Given the description of an element on the screen output the (x, y) to click on. 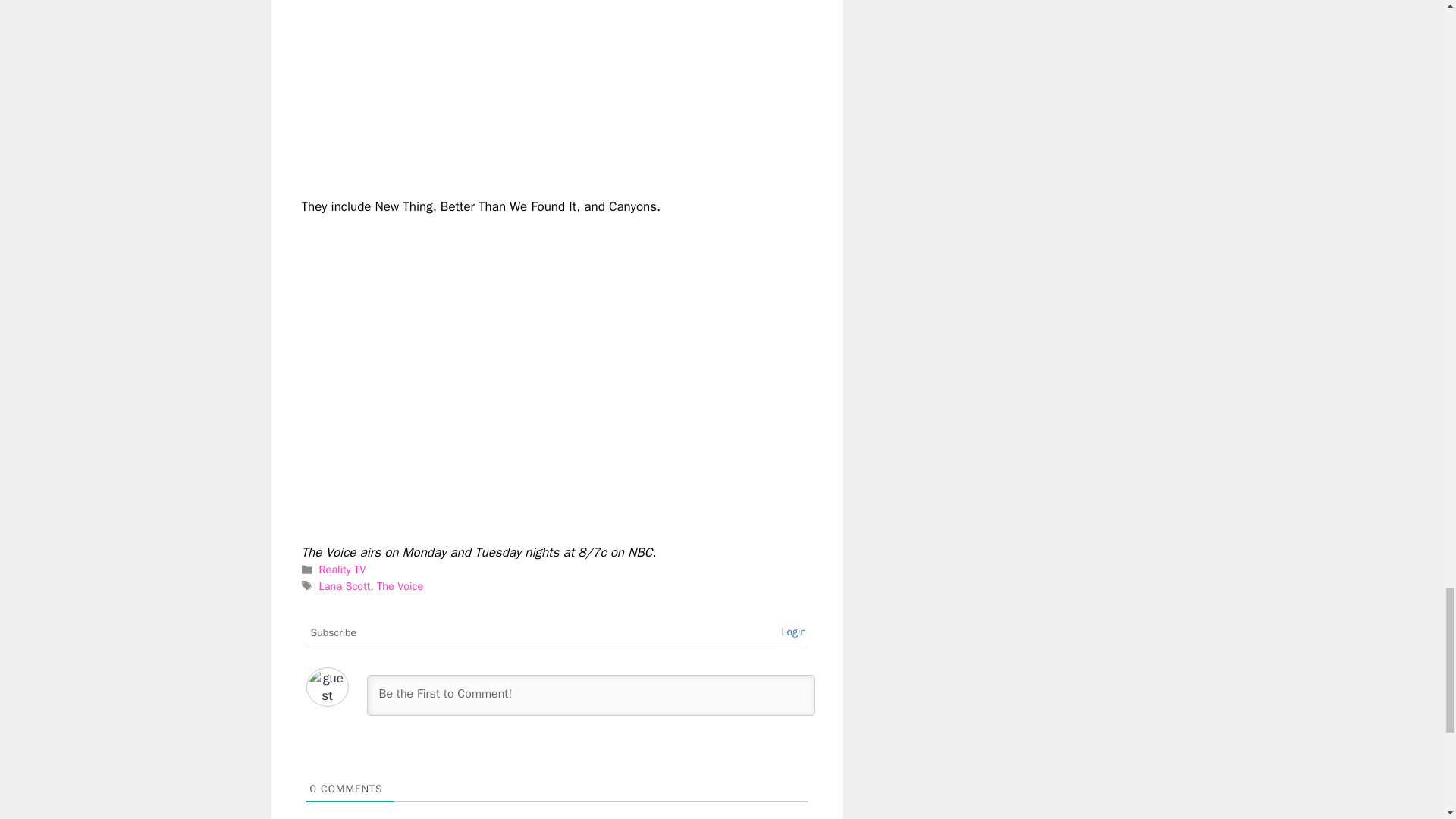
Lana Scott (344, 585)
Login (793, 631)
Reality TV (342, 569)
The Voice (400, 585)
